Given the description of an element on the screen output the (x, y) to click on. 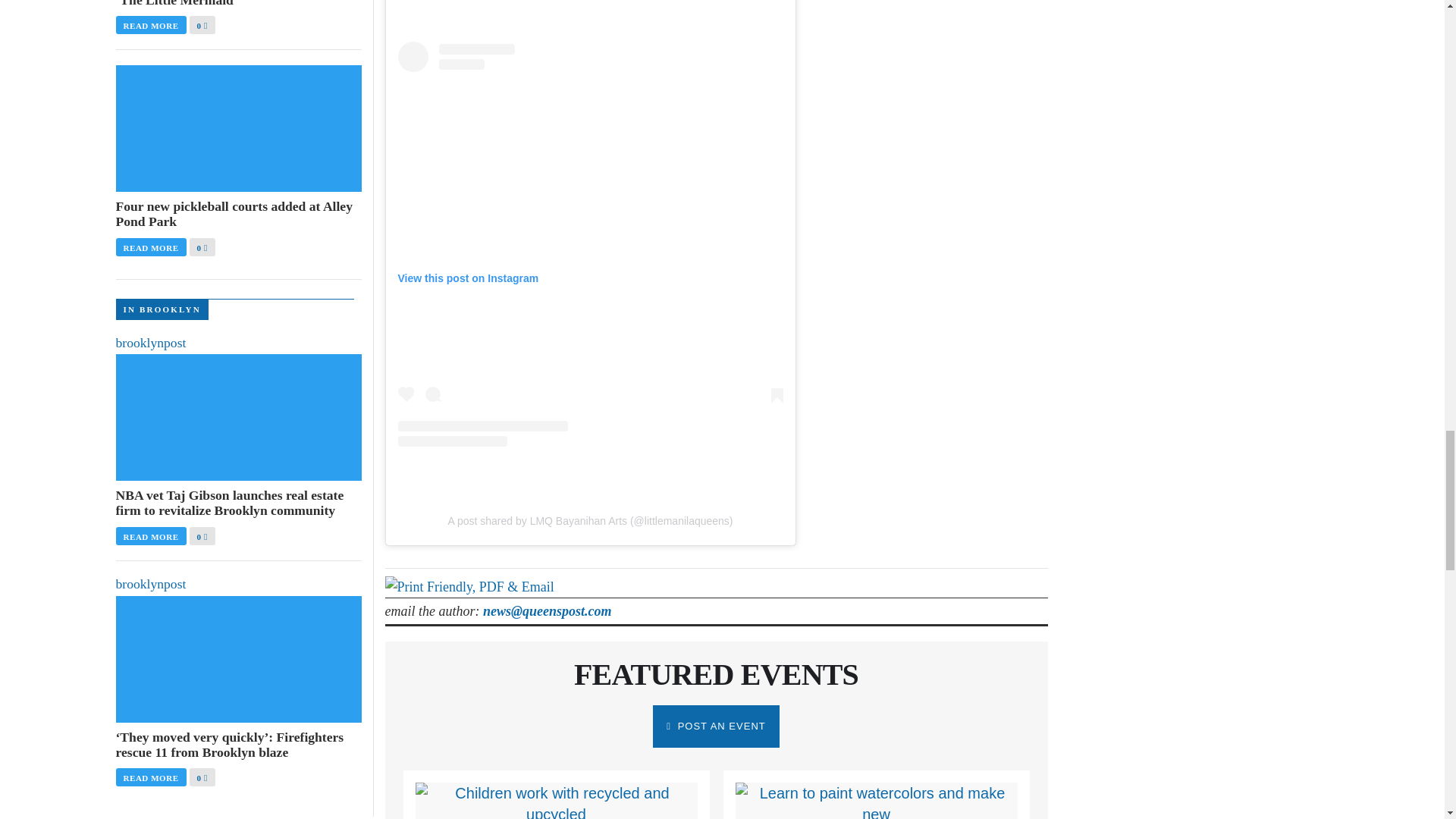
POST AN EVENT (715, 726)
FEATURED EVENTS (716, 674)
